Given the description of an element on the screen output the (x, y) to click on. 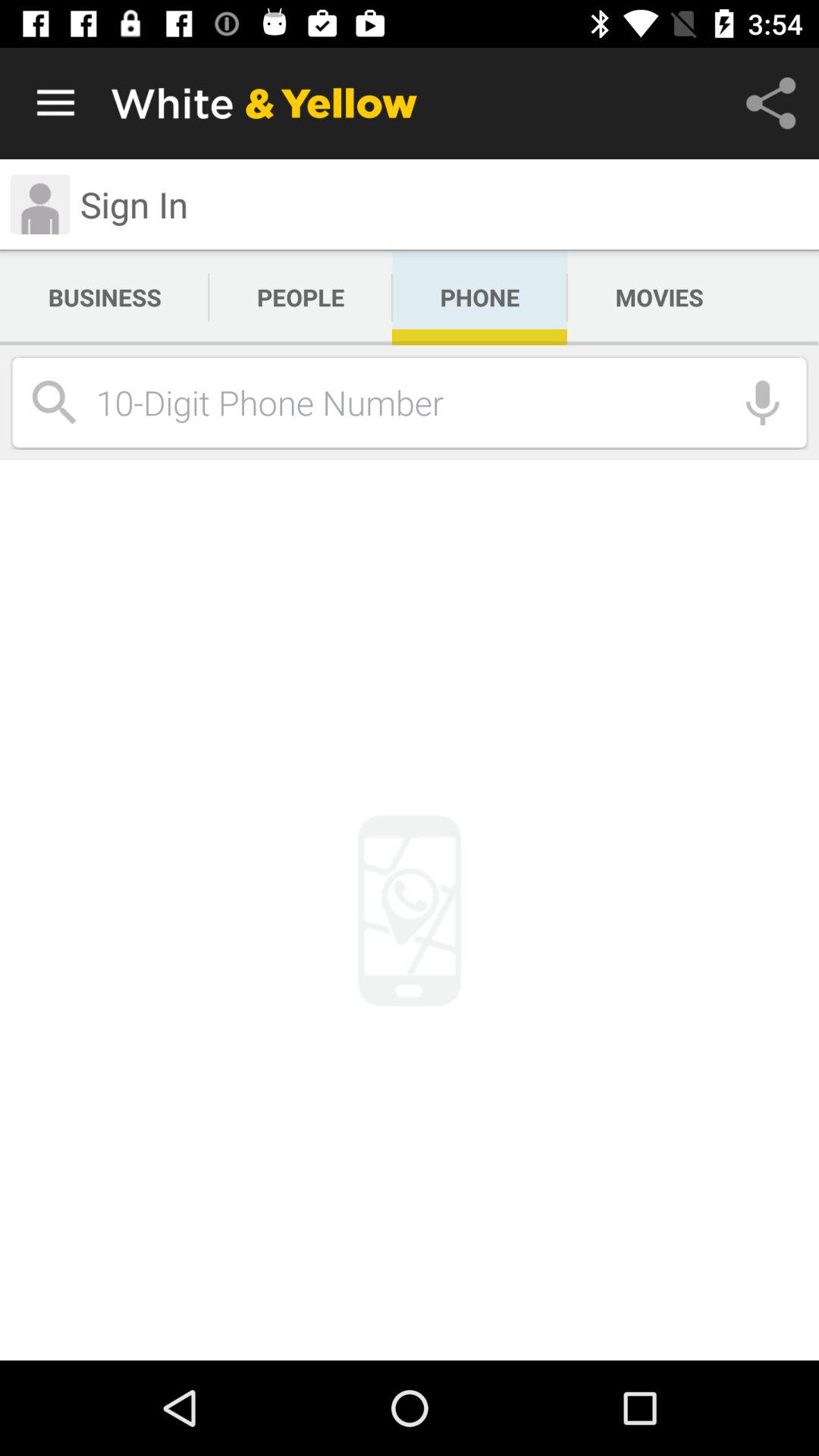
press icon below the business (417, 402)
